Given the description of an element on the screen output the (x, y) to click on. 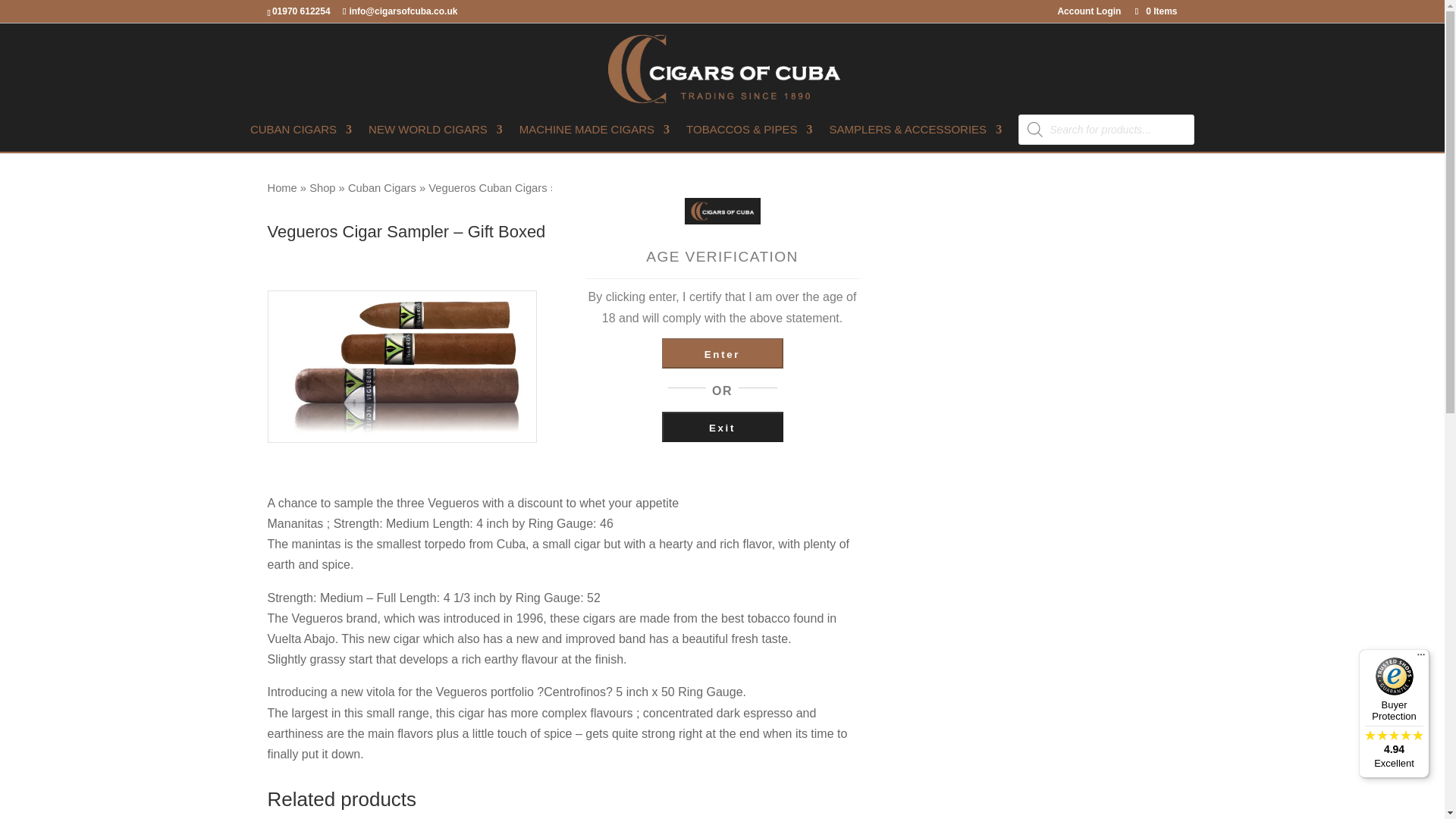
NEW WORLD CIGARS (435, 137)
0 Items (1154, 10)
CUBAN CIGARS (301, 137)
1 (608, 356)
Account Login (1089, 14)
01970 612254 (302, 10)
